Given the description of an element on the screen output the (x, y) to click on. 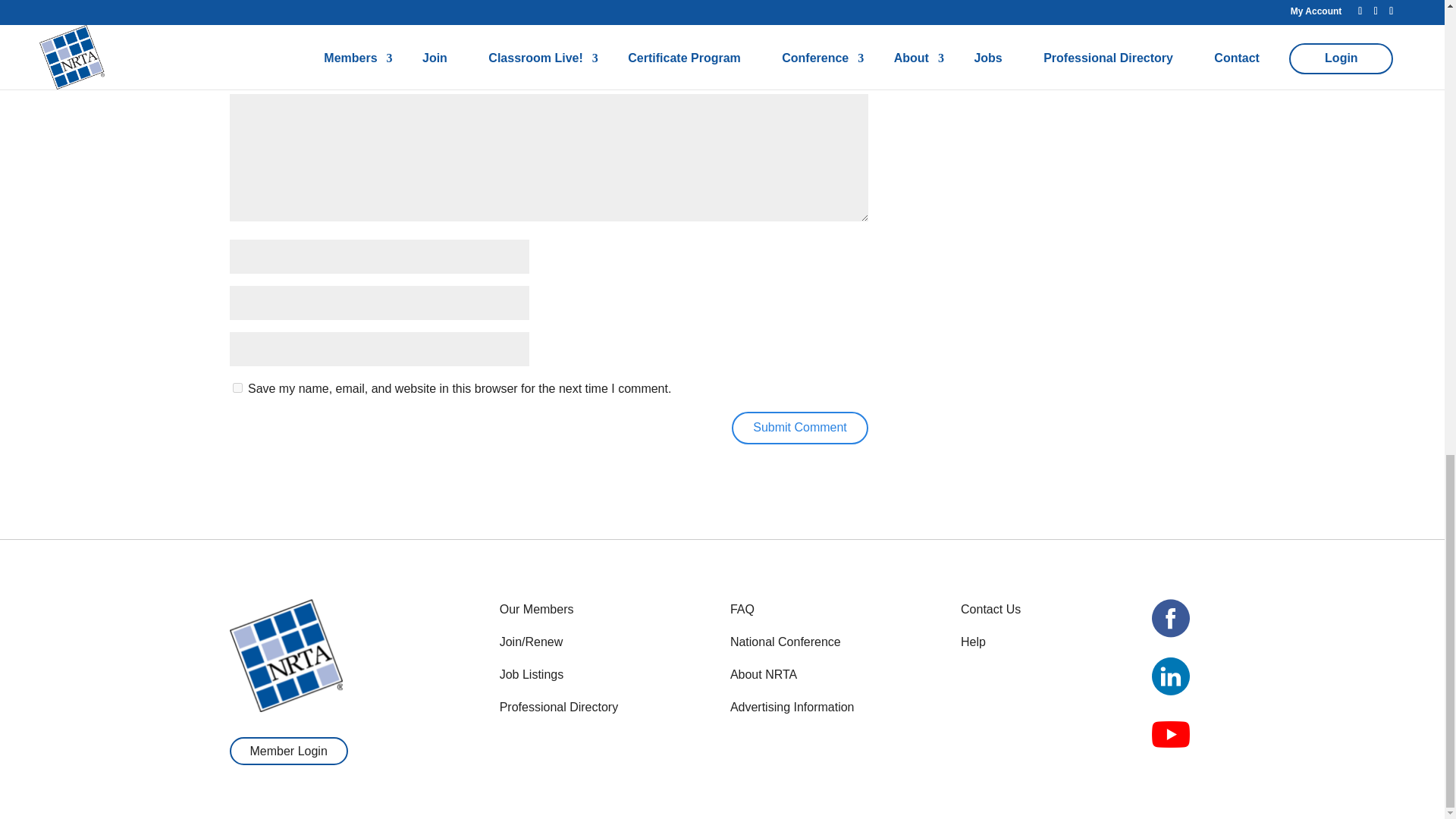
Submit Comment (799, 427)
yes (236, 388)
